Given the description of an element on the screen output the (x, y) to click on. 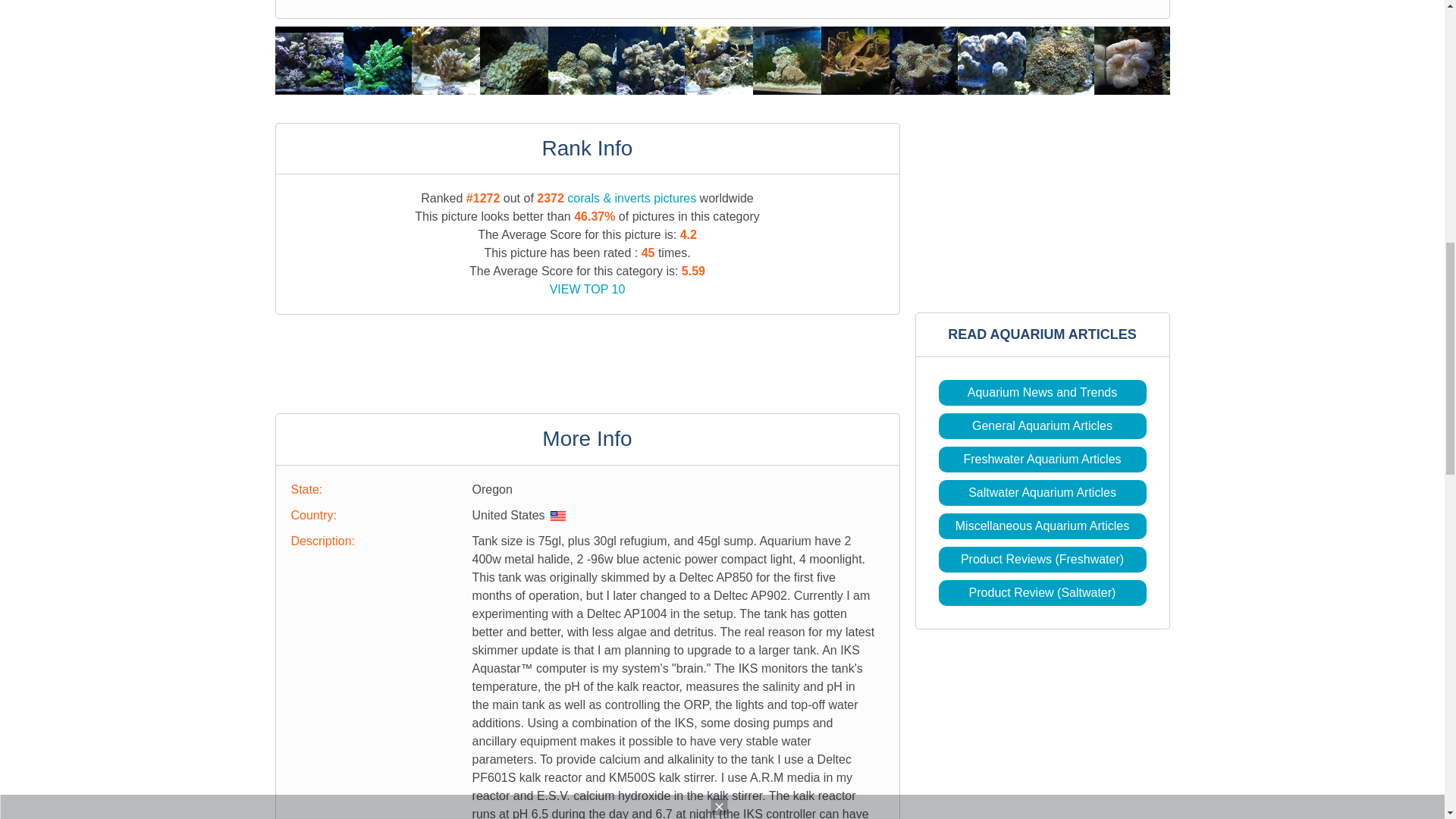
VIEW TOP 10 (588, 288)
